Given the description of an element on the screen output the (x, y) to click on. 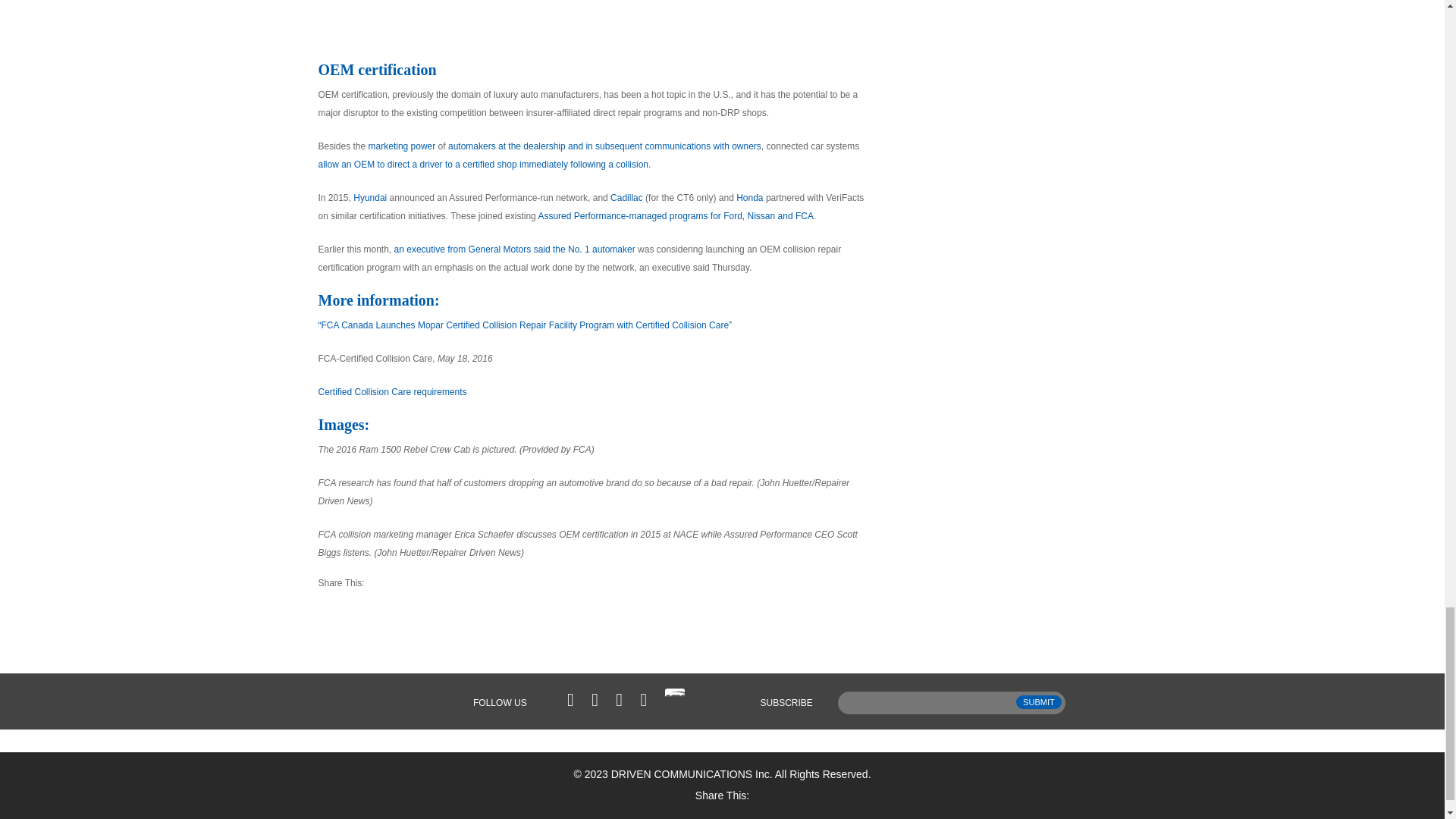
Submit (1038, 702)
